Given the description of an element on the screen output the (x, y) to click on. 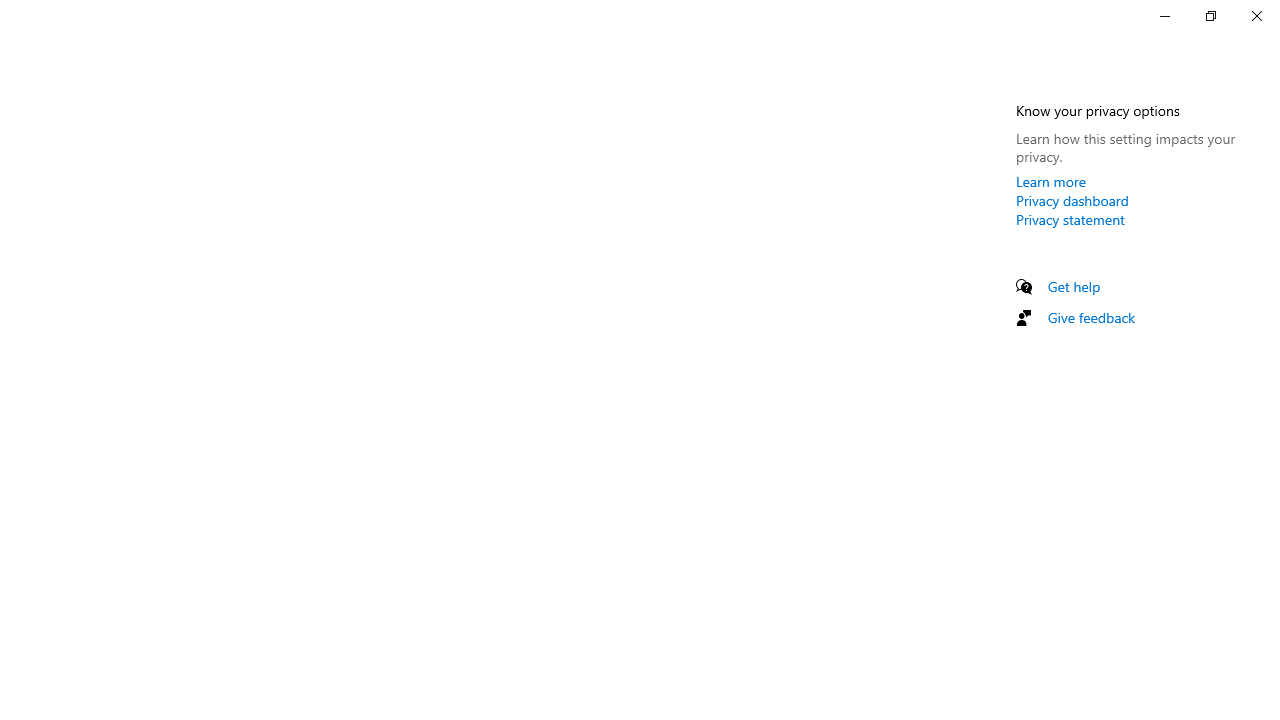
Privacy statement (1070, 219)
Privacy dashboard (1072, 200)
Learn more (1051, 181)
